Given the description of an element on the screen output the (x, y) to click on. 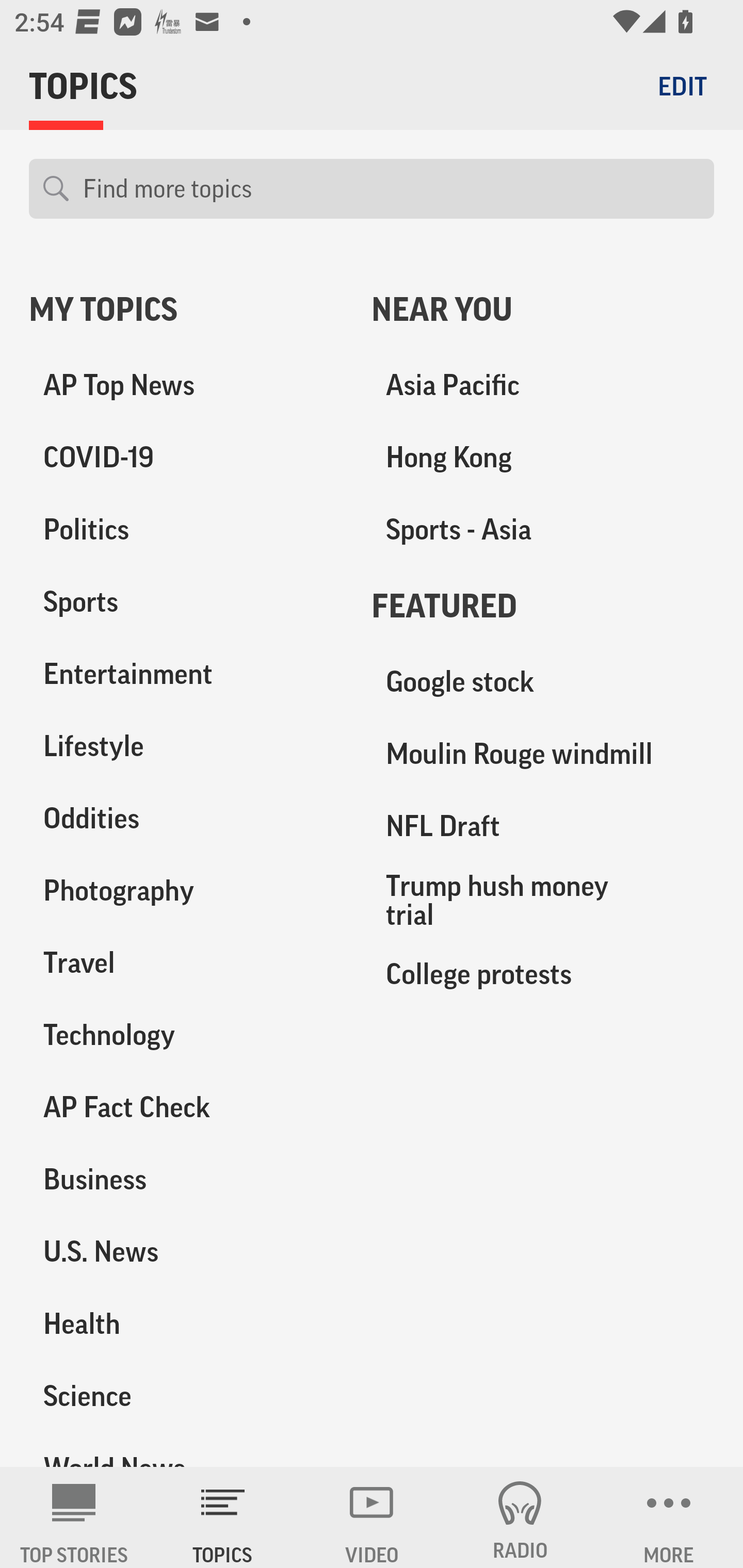
EDIT (682, 86)
Find more topics (391, 188)
AP Top News (185, 385)
Asia Pacific (542, 385)
COVID-19 (185, 457)
Hong Kong (542, 457)
Politics (185, 529)
Sports - Asia (542, 529)
Sports (185, 602)
Entertainment (185, 674)
Google stock (542, 682)
Lifestyle (185, 746)
Moulin Rouge windmill (542, 754)
Oddities (185, 818)
NFL Draft (542, 826)
Photography (185, 890)
Trump hush money trial (542, 899)
Travel (185, 962)
College protests (542, 973)
Technology (185, 1034)
AP Fact Check (185, 1106)
Business (185, 1179)
U.S. News (185, 1251)
Health (185, 1323)
Science (185, 1395)
AP News TOP STORIES (74, 1517)
TOPICS (222, 1517)
VIDEO (371, 1517)
RADIO (519, 1517)
MORE (668, 1517)
